Given the description of an element on the screen output the (x, y) to click on. 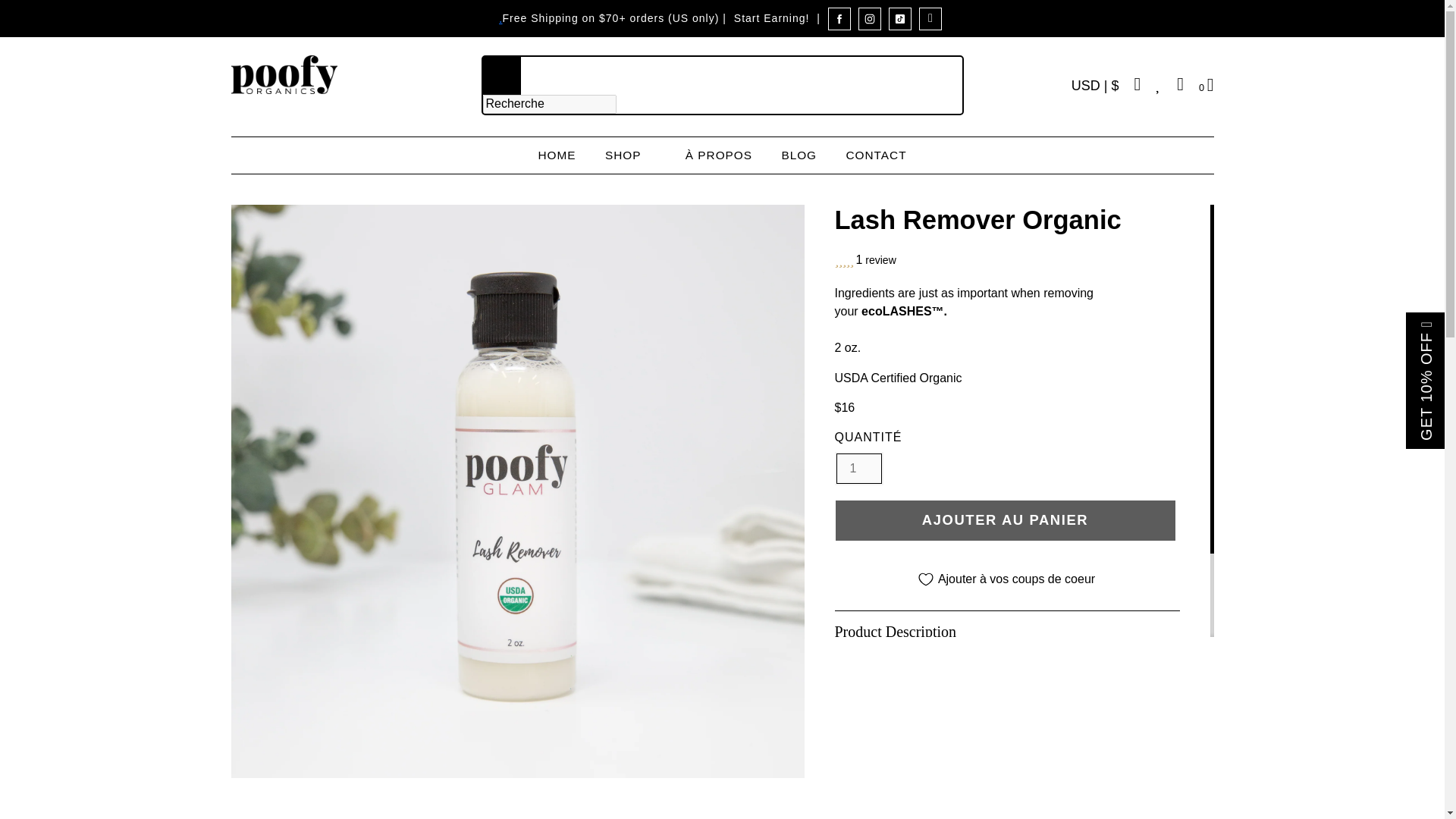
Facebook (839, 17)
CONTACT (875, 155)
HOME (555, 155)
AJOUTER AU PANIER (1004, 520)
BLOG (799, 155)
Start Earning! (771, 18)
Instagram (869, 17)
SHOP (631, 155)
TikTok (899, 17)
